Given the description of an element on the screen output the (x, y) to click on. 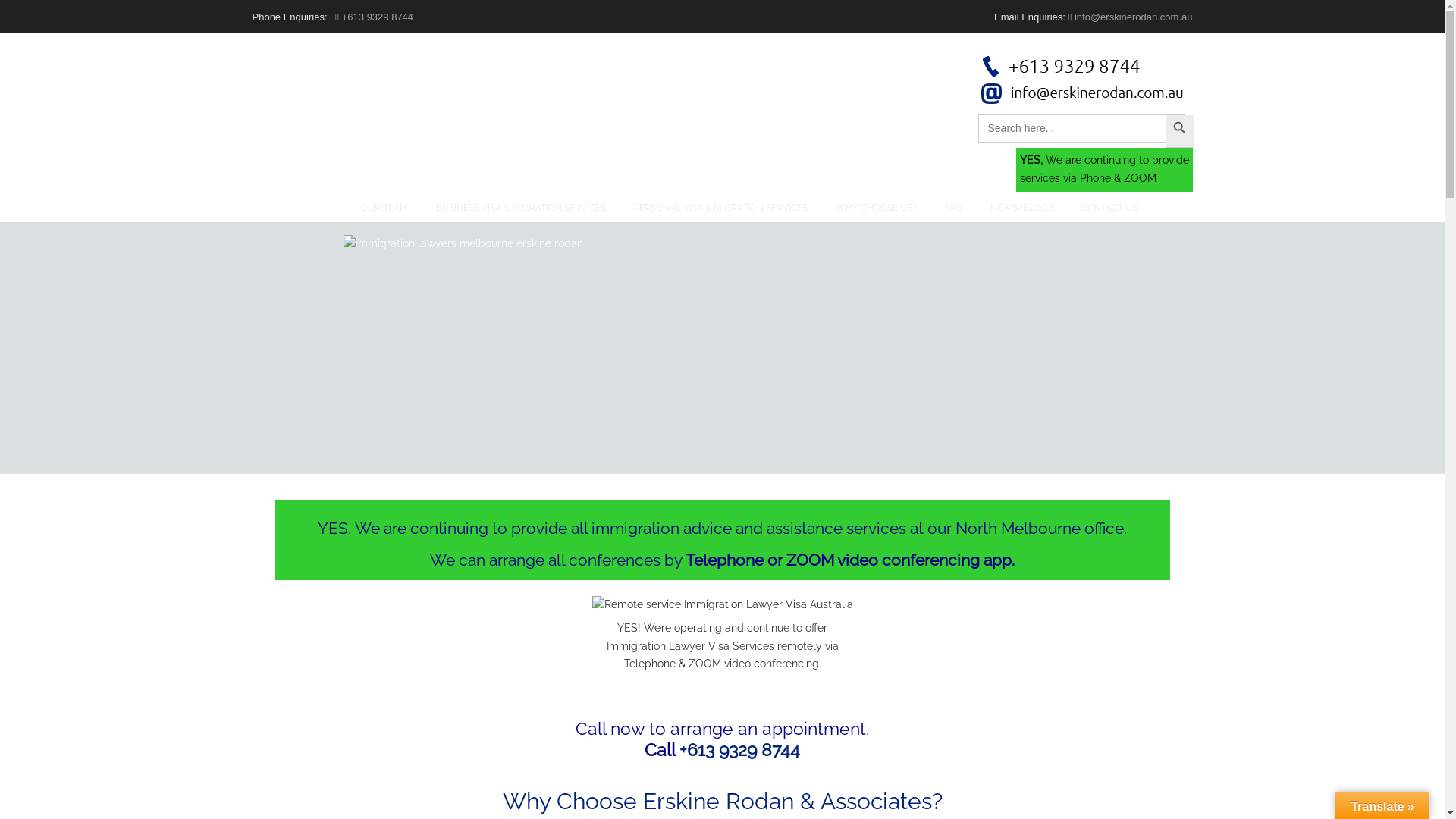
OUR TEAM Element type: text (384, 207)
+613 9329 8744 Element type: text (739, 749)
Search Button Element type: text (1178, 127)
BUSINESS VISA & MIGRATION SERVICES Element type: text (520, 207)
HOME Element type: text (318, 207)
Erskine Rodan & Associates Element type: text (422, 75)
FAQ Element type: text (953, 207)
+613 9329 8744 Element type: text (377, 16)
CONTACT US Element type: text (1109, 207)
info@erskinerodan.com.au Element type: text (1133, 16)
WHY CHOOSE US? Element type: text (875, 207)
NEWS/BLOGS Element type: text (1021, 207)
PERSONAL VISA & MIGRATION SERVICES Element type: text (720, 207)
